Given the description of an element on the screen output the (x, y) to click on. 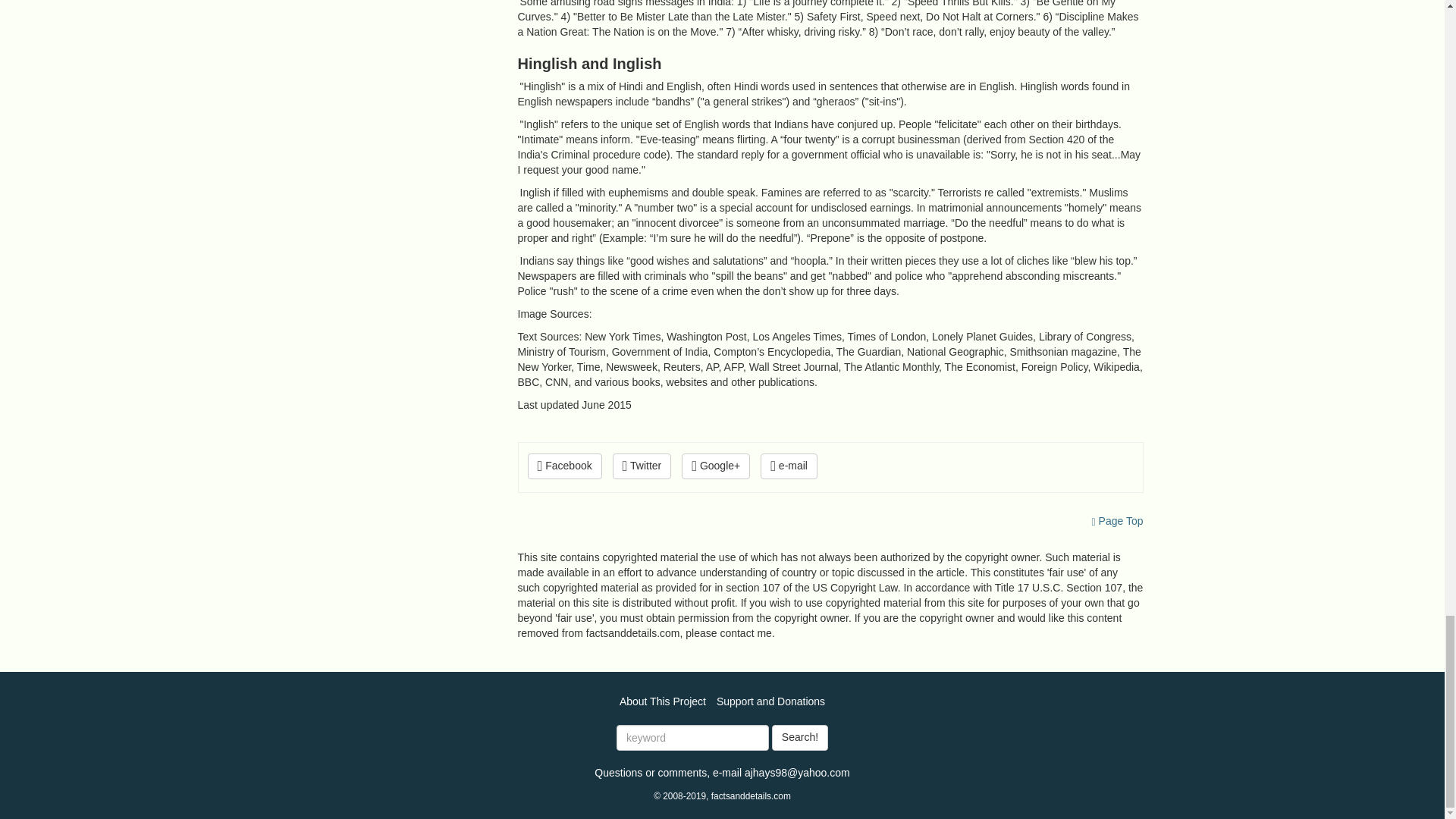
 Facebook (564, 466)
 Page Top (1117, 521)
Support and Donations (770, 701)
About This Project (663, 701)
Search! (799, 737)
e-mail a link to this page (788, 466)
 Twitter (641, 466)
 e-mail (788, 466)
Search! (799, 737)
